Given the description of an element on the screen output the (x, y) to click on. 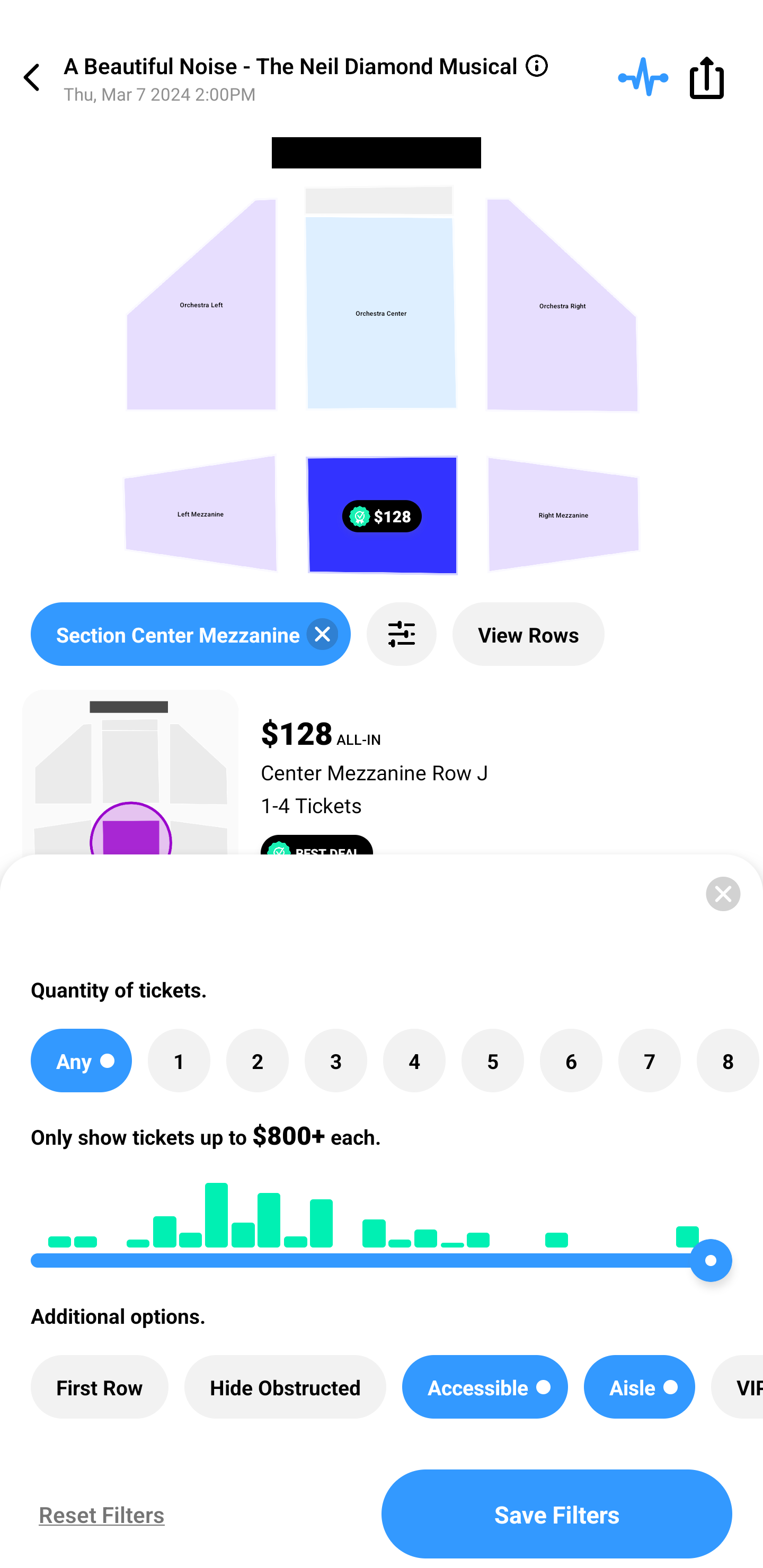
Any (80, 1060)
1 (179, 1060)
2 (257, 1060)
3 (335, 1060)
4 (414, 1060)
5 (492, 1060)
6 (571, 1060)
7 (649, 1060)
8 (727, 1060)
First Row (99, 1386)
Hide Obstructed (285, 1386)
Accessible (484, 1386)
Aisle (639, 1386)
Save Filters (556, 1513)
Reset Filters (97, 1513)
